Given the description of an element on the screen output the (x, y) to click on. 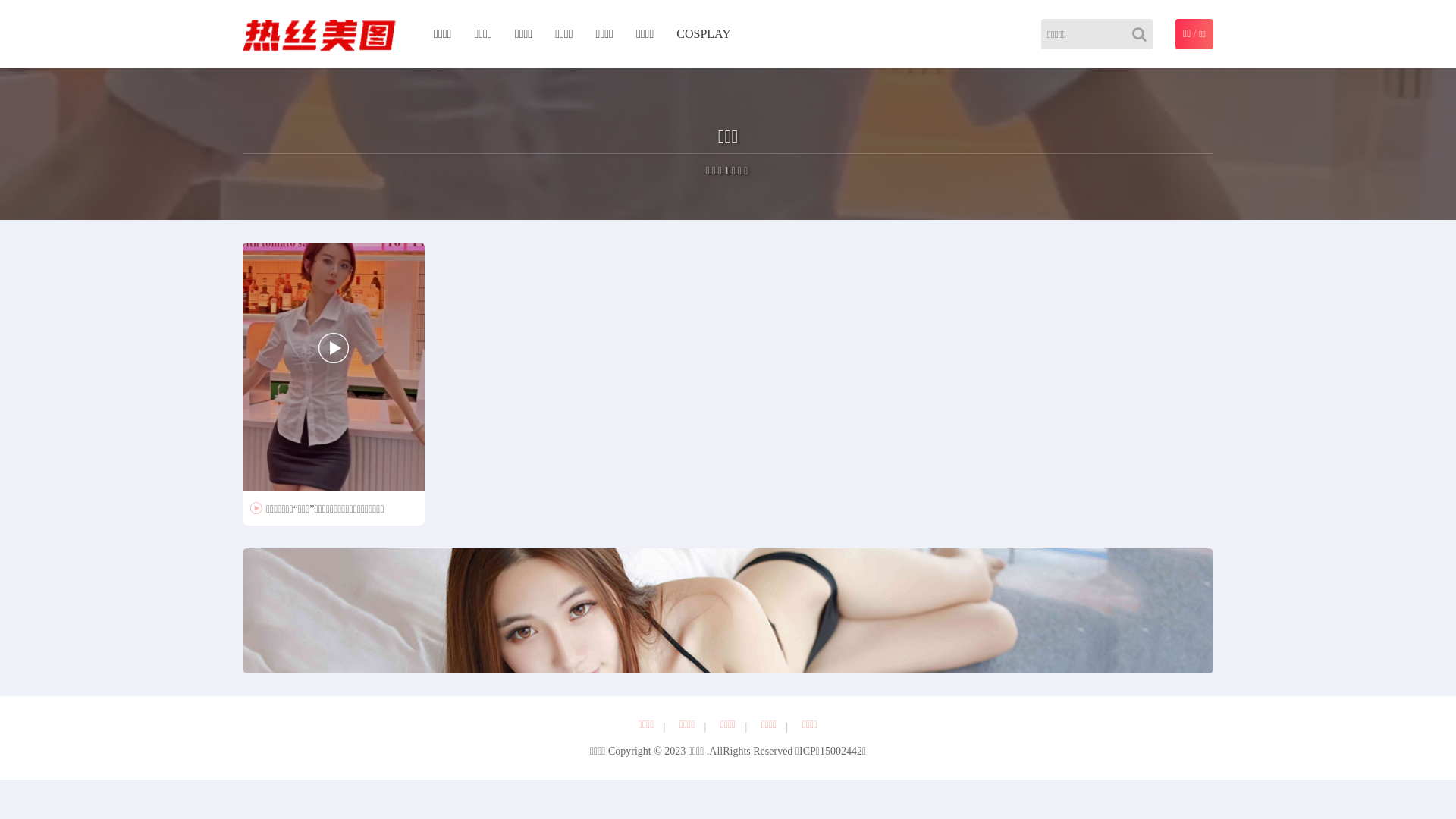
COSPLAY Element type: text (703, 34)
